Given the description of an element on the screen output the (x, y) to click on. 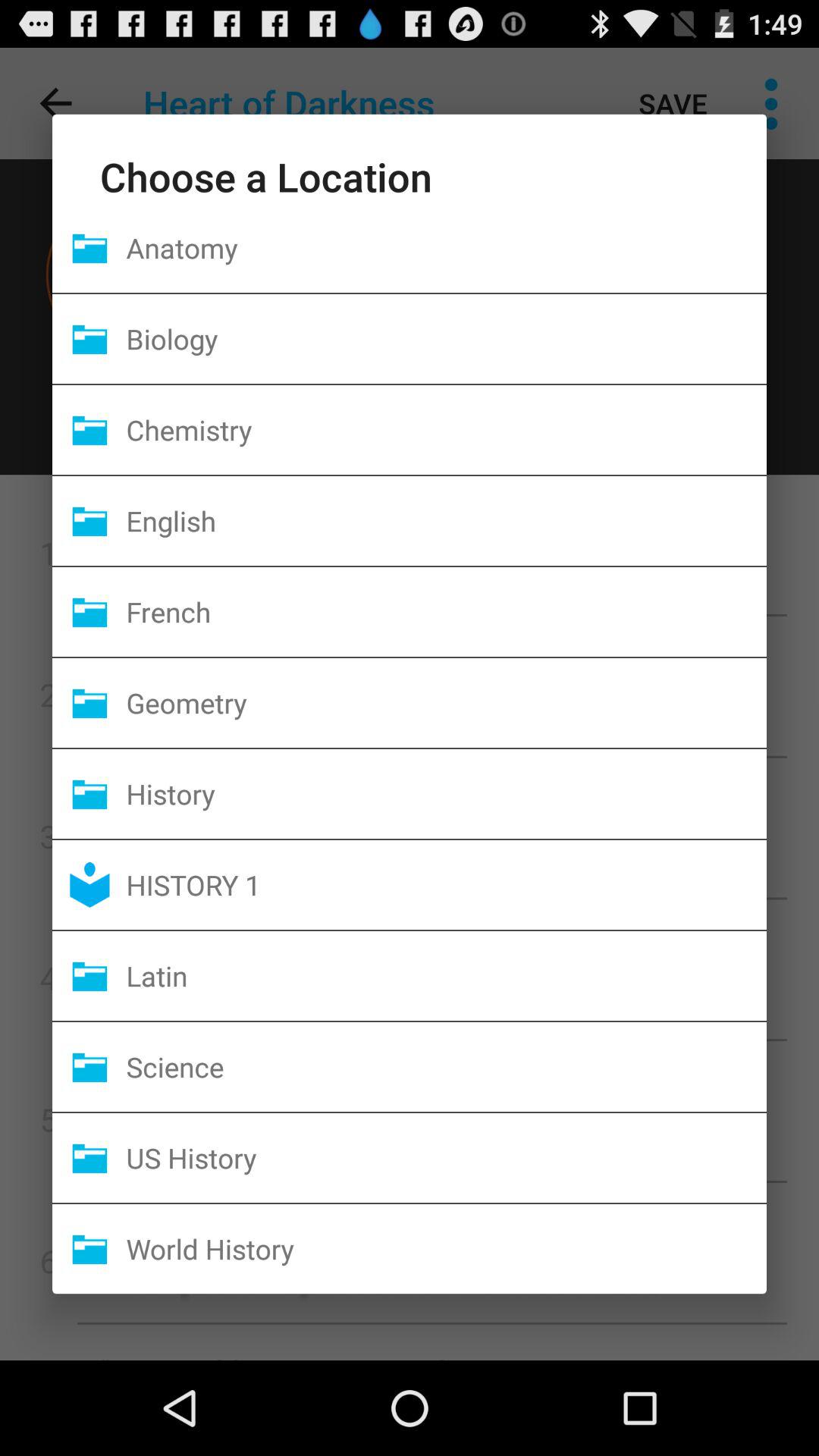
flip to the history 1 icon (446, 884)
